Given the description of an element on the screen output the (x, y) to click on. 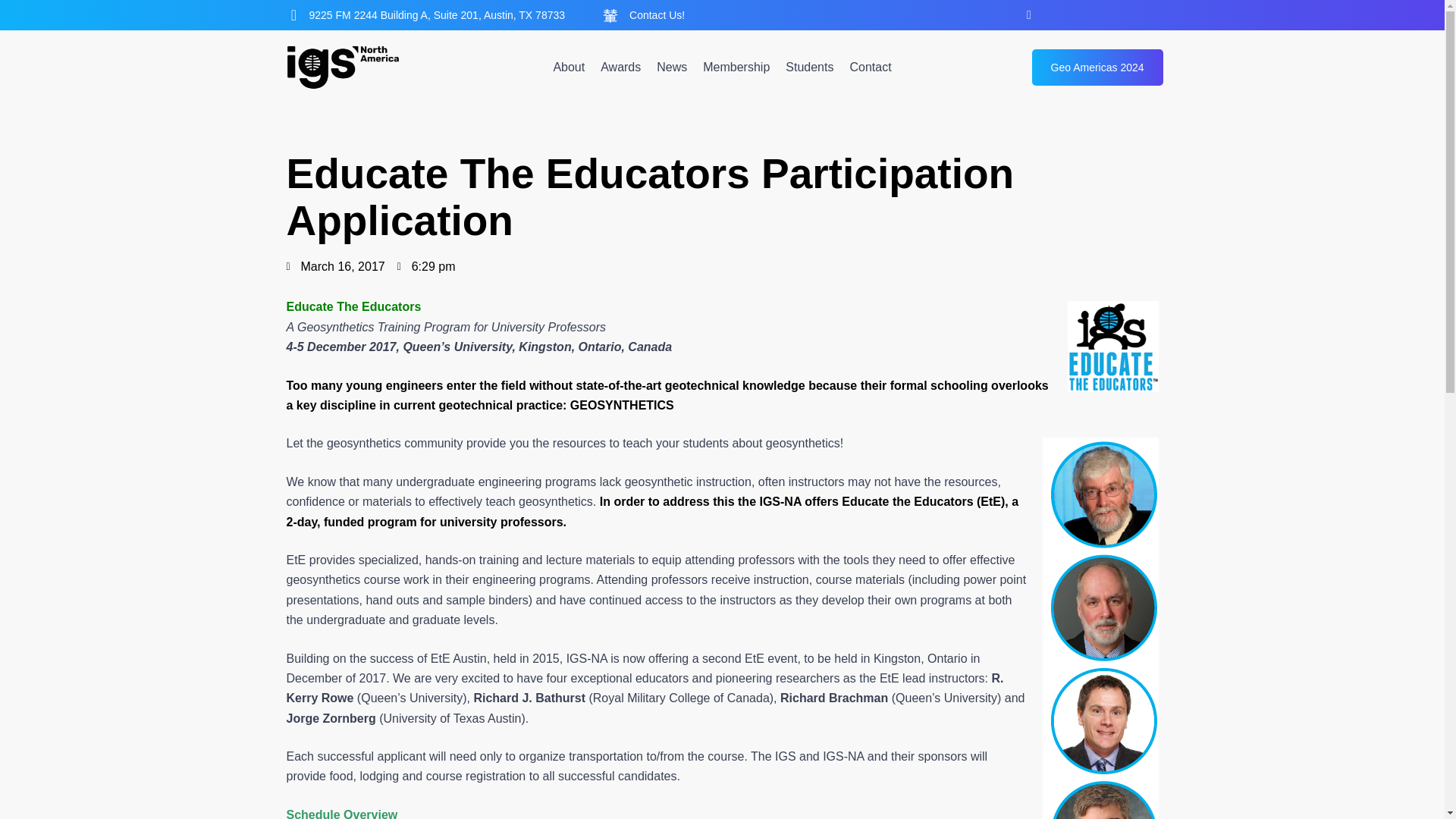
Geo Americas 2024 (1097, 67)
March 16, 2017 (335, 266)
Contact (869, 67)
Membership (736, 67)
9225 FM 2244 Building A, Suite 201, Austin, TX 78733 (437, 15)
Contact Us! (656, 15)
Students (809, 67)
Awards (619, 67)
